Given the description of an element on the screen output the (x, y) to click on. 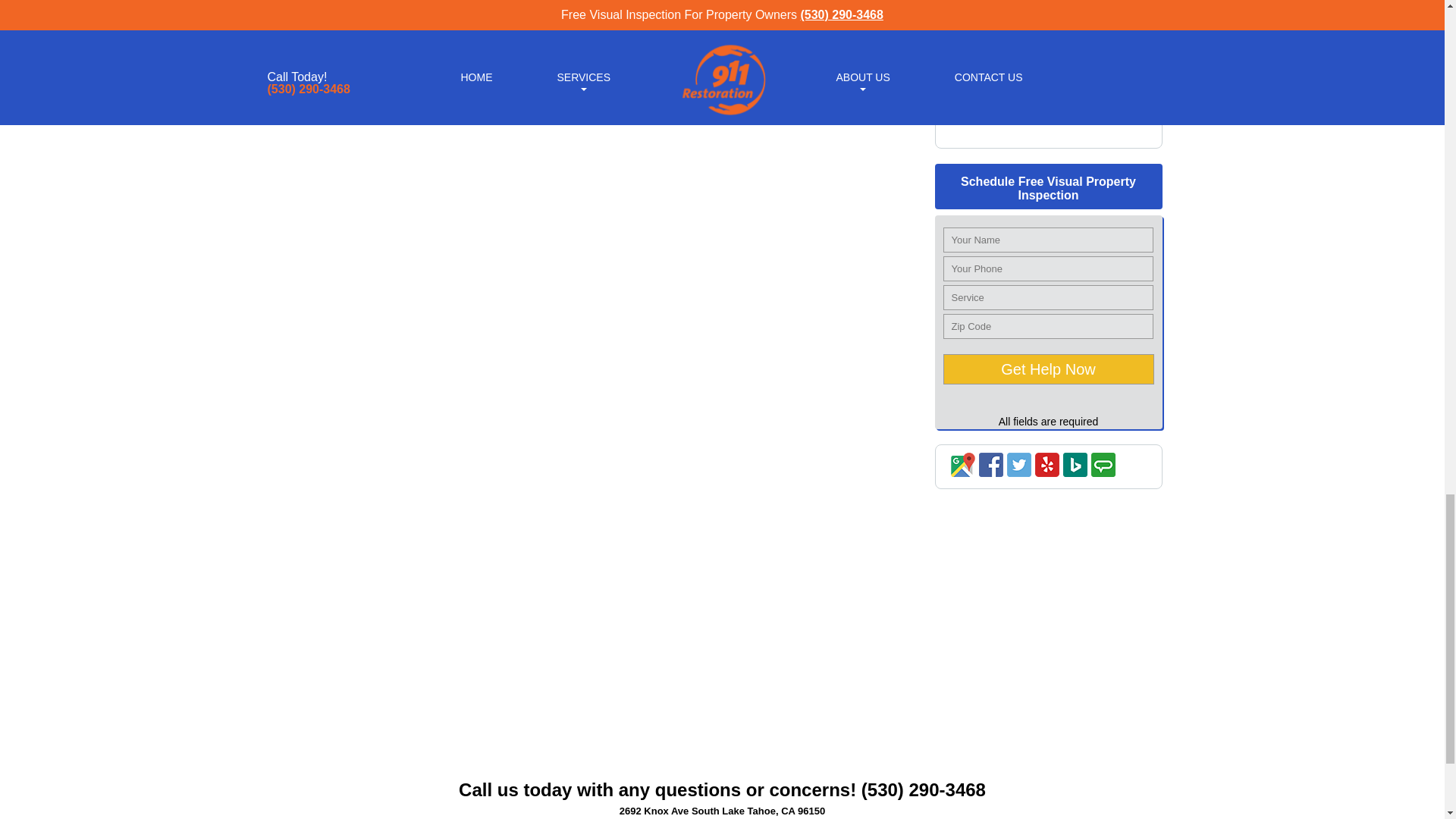
Get Help Now (1048, 368)
Service Area (1048, 133)
